Given the description of an element on the screen output the (x, y) to click on. 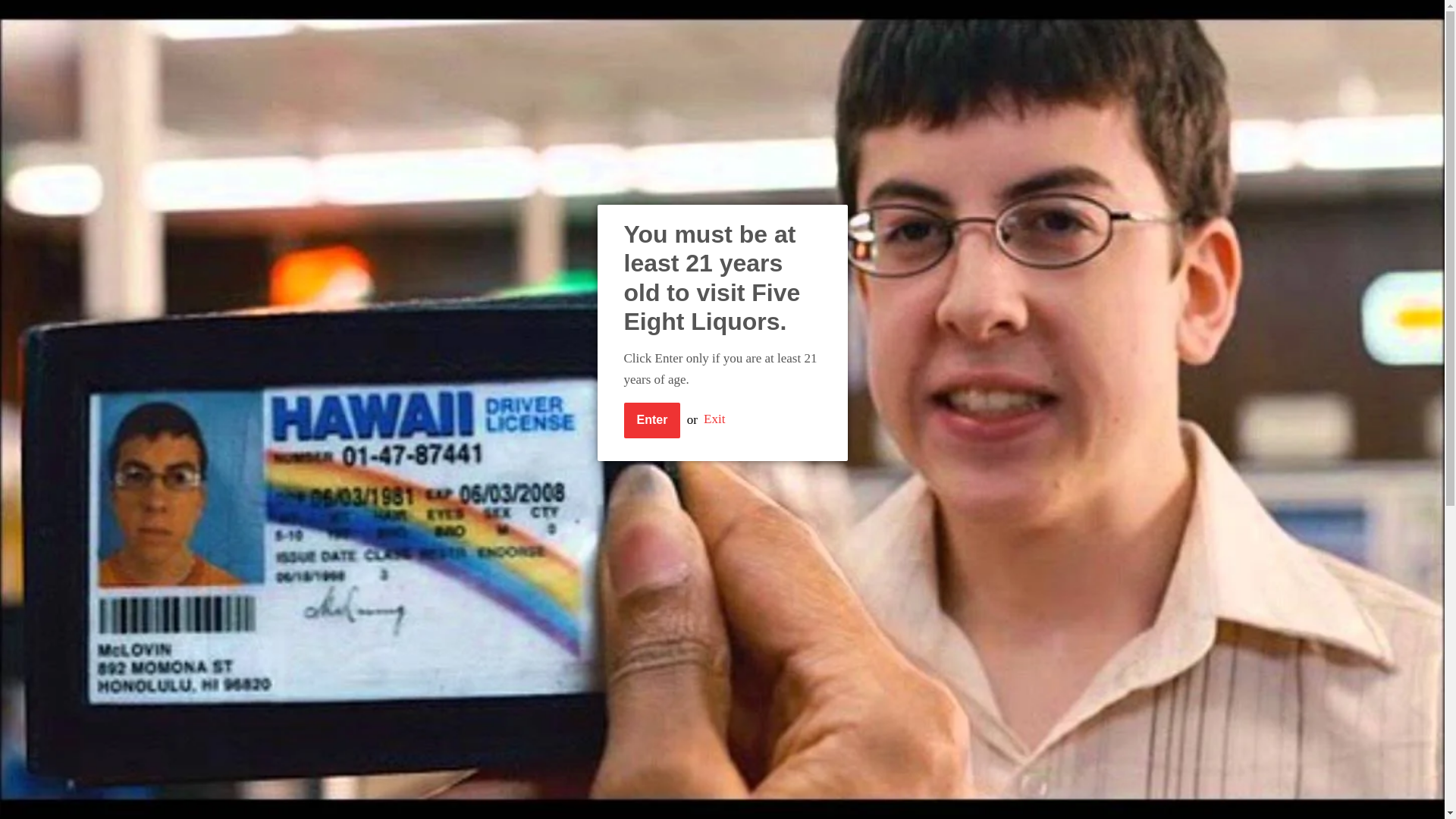
Back to the frontpage (370, 163)
Enter (651, 420)
Exit (714, 419)
Log in (778, 18)
Cart (940, 18)
Create account (858, 18)
Search (980, 18)
